Given the description of an element on the screen output the (x, y) to click on. 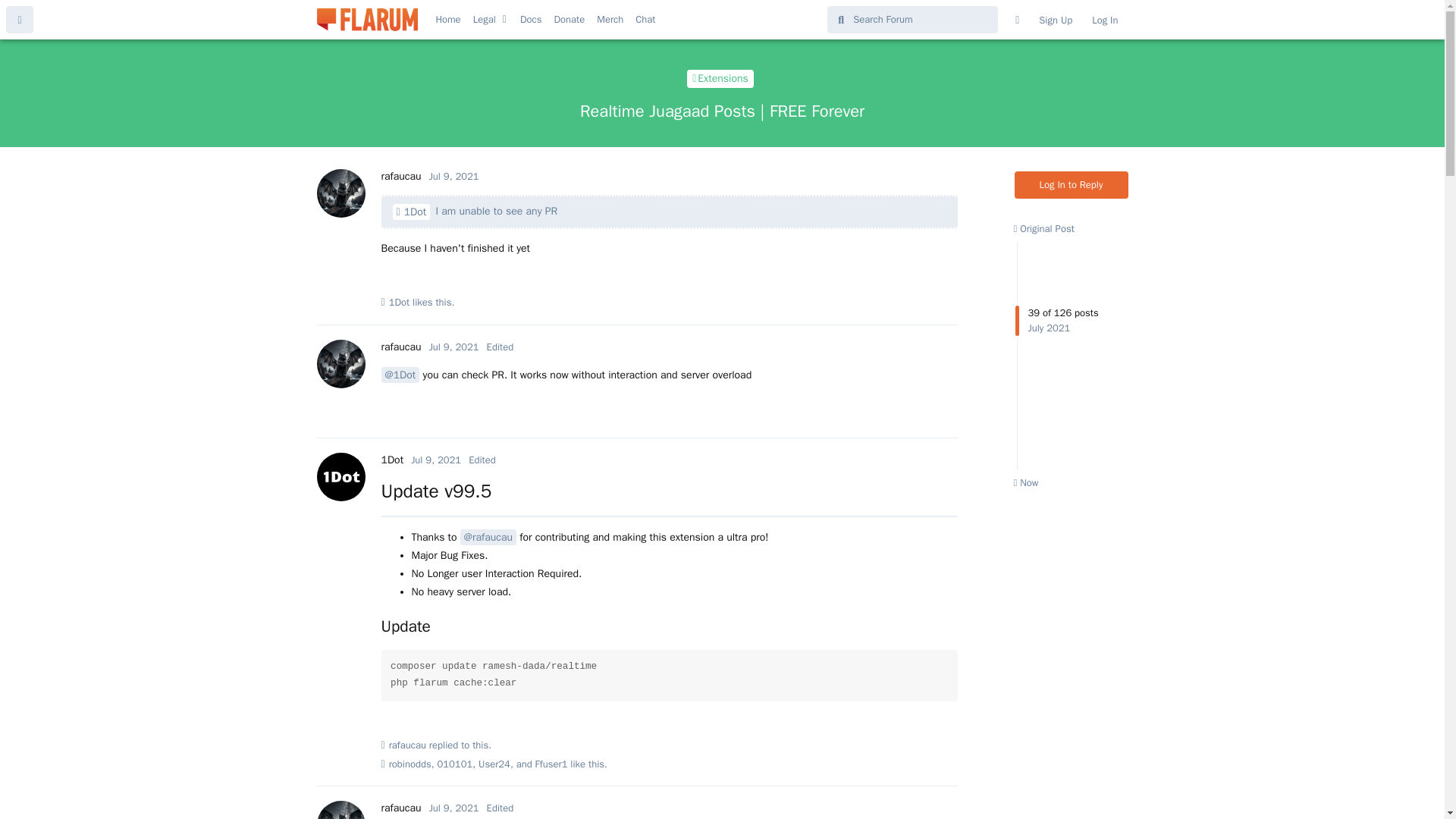
1Dot (391, 459)
Now (1025, 481)
Friday, July 9, 2021 3:25 PM (454, 175)
Legal (484, 19)
Jul 9, 2021 (454, 346)
Donate (569, 19)
Docs (530, 19)
1Dot (411, 211)
Jul 9, 2021 (435, 459)
Friday, July 9, 2021 3:40 PM (454, 346)
Log In (1103, 19)
Friday, July 9, 2021 3:44 PM (435, 459)
rafaucau (400, 175)
Sign Up (1055, 19)
robinodds (409, 764)
